Given the description of an element on the screen output the (x, y) to click on. 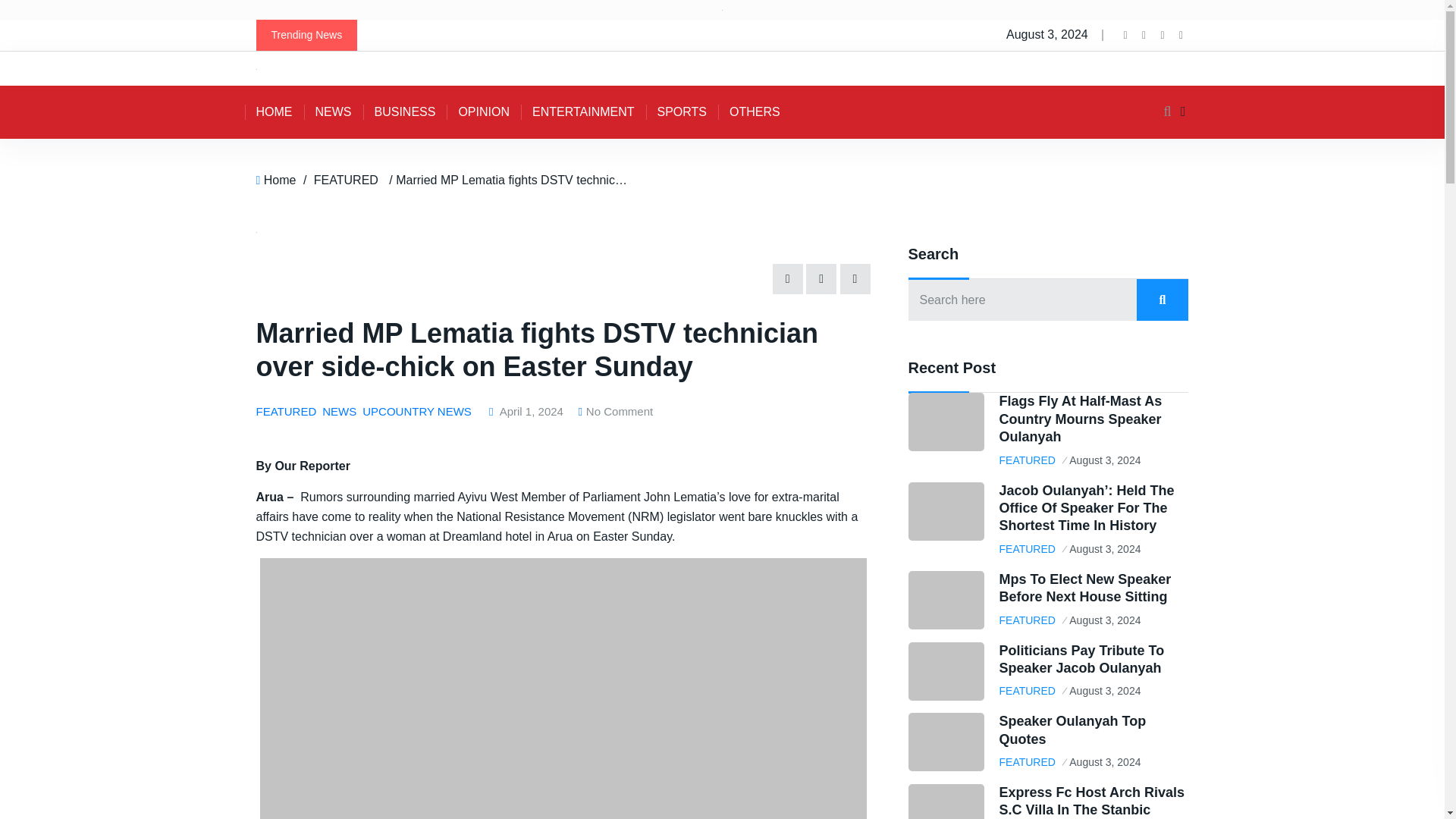
SPORTS (682, 111)
ENTERTAINMENT (583, 111)
NEWS (332, 111)
HOME (273, 111)
OPINION (483, 111)
BUSINESS (404, 111)
